Given the description of an element on the screen output the (x, y) to click on. 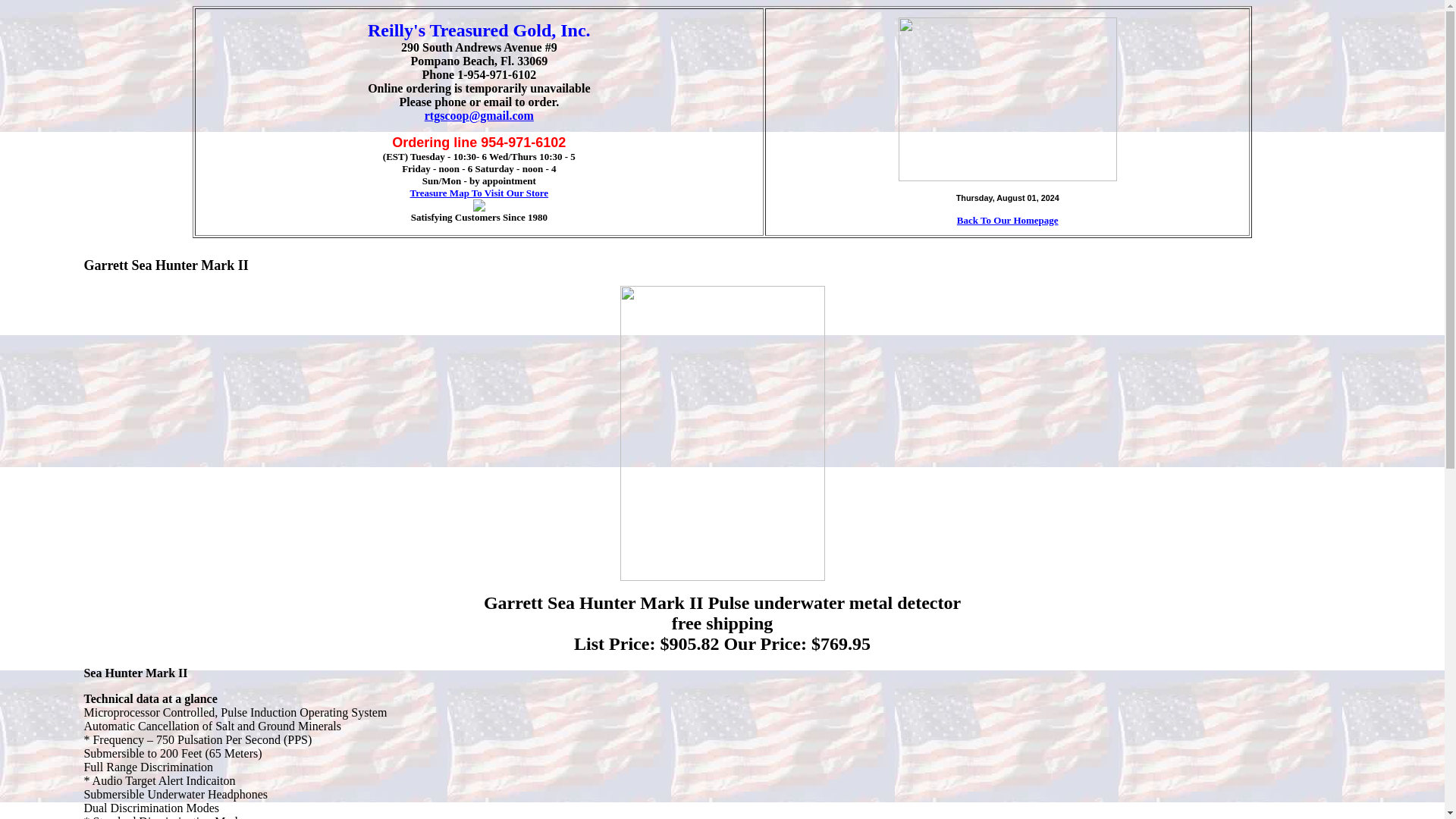
Back To Our Homepage (1007, 220)
Treasure Map To Visit Our Store (478, 193)
